Given the description of an element on the screen output the (x, y) to click on. 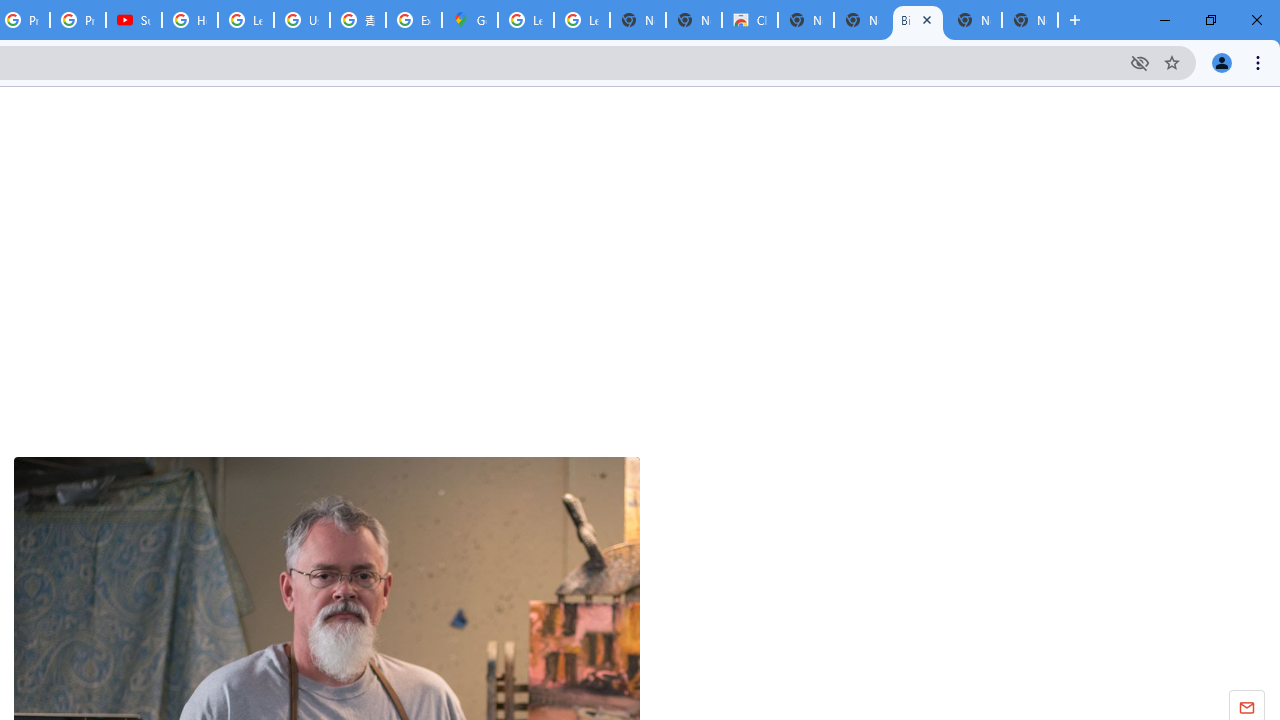
Google Maps (469, 20)
New Tab (1030, 20)
Explore new street-level details - Google Maps Help (413, 20)
Chrome Web Store (749, 20)
How Chrome protects your passwords - Google Chrome Help (189, 20)
Subscriptions - YouTube (134, 20)
Third-party cookies blocked (1139, 62)
